Given the description of an element on the screen output the (x, y) to click on. 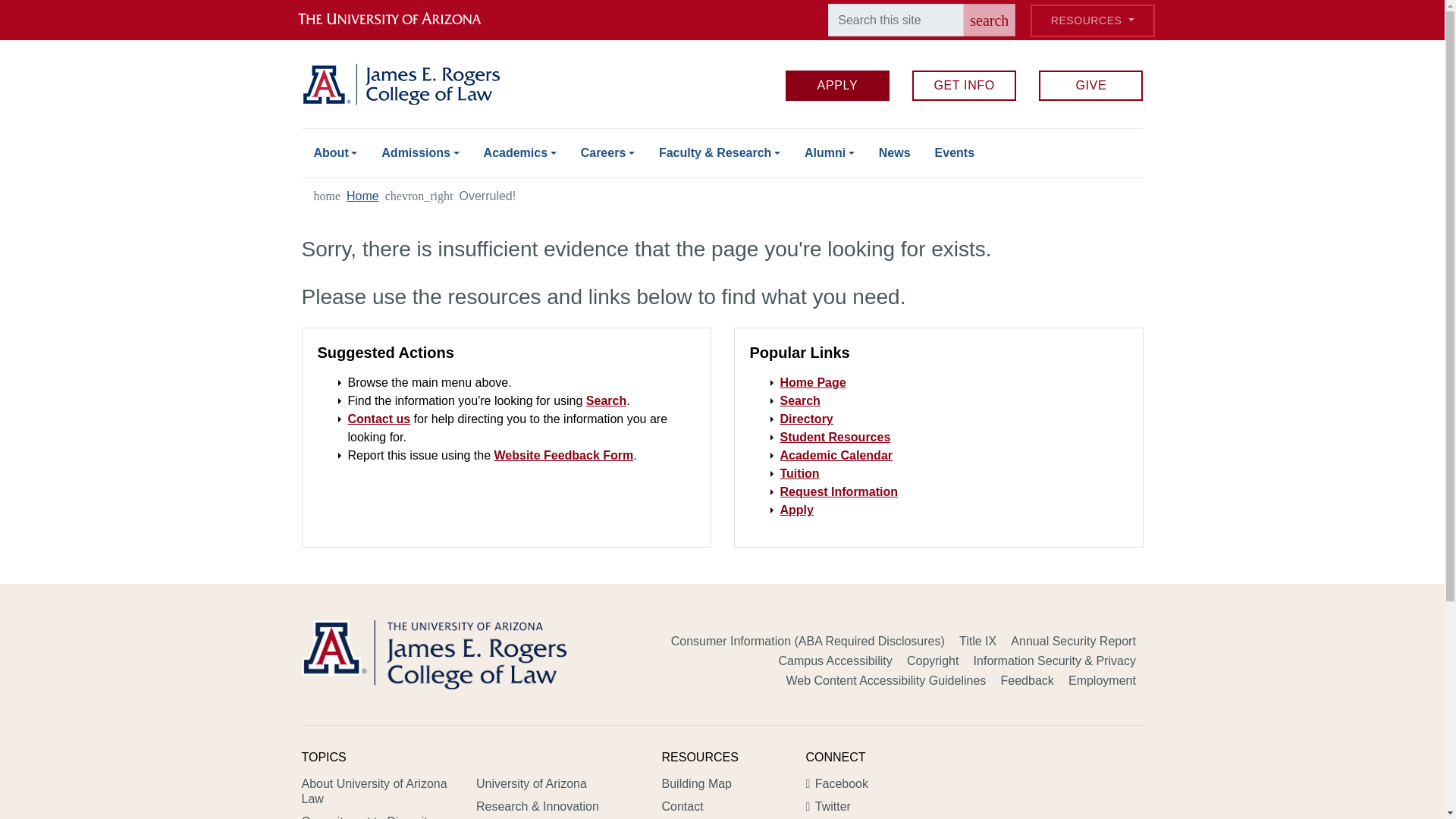
Skip to main content (721, 1)
Enter the terms you wish to search for. (895, 20)
search (988, 20)
RESOURCES (1092, 20)
Admissions (419, 152)
GET INFO (964, 85)
The University of Arizona homepage (401, 20)
Faculty Directory (805, 418)
Academics (520, 152)
About (335, 152)
